Given the description of an element on the screen output the (x, y) to click on. 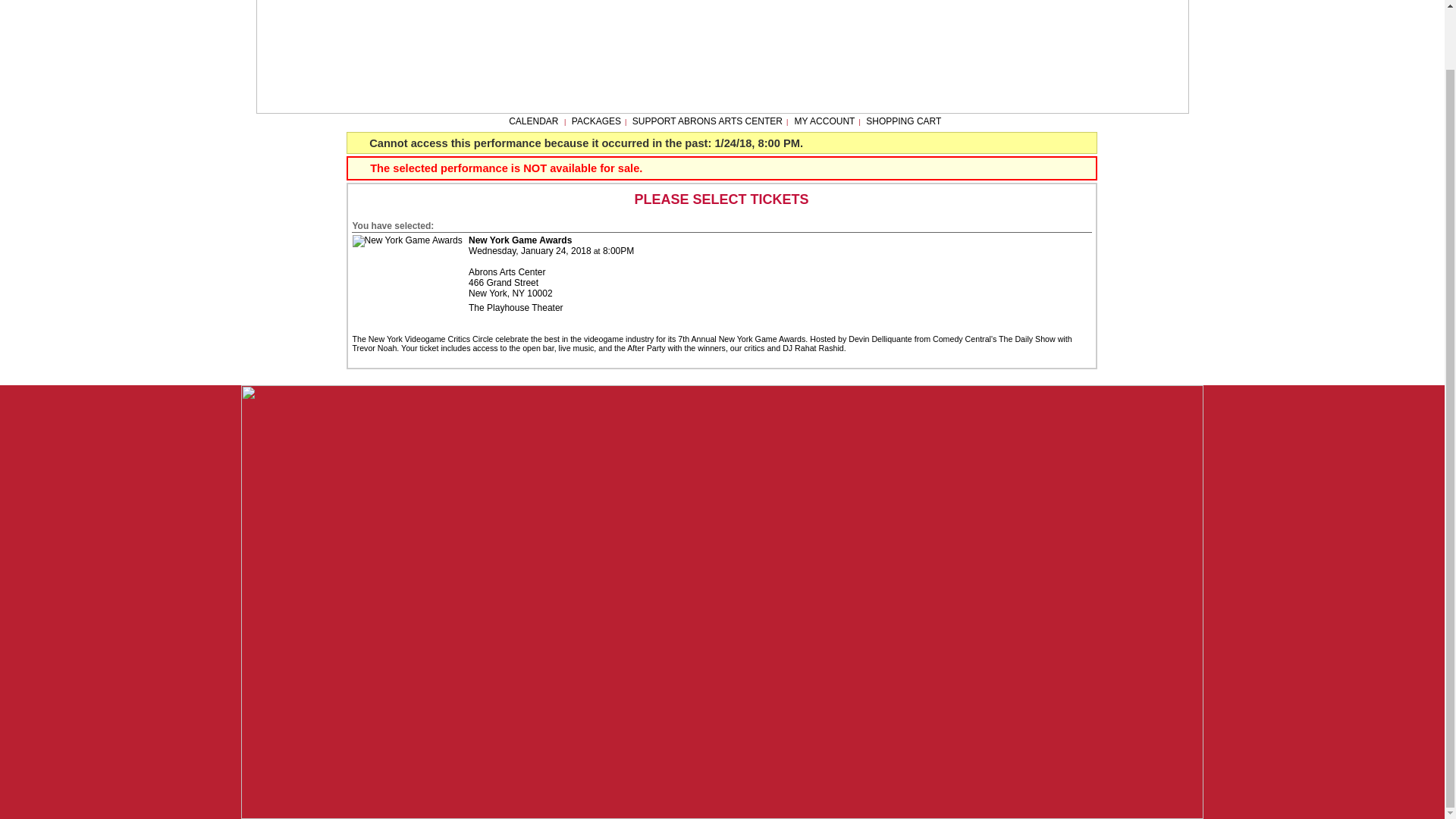
PACKAGES (596, 121)
MY ACCOUNT (823, 121)
SUPPORT ABRONS ARTS CENTER (707, 121)
SHOPPING CART (903, 121)
CALENDAR (532, 121)
